Given the description of an element on the screen output the (x, y) to click on. 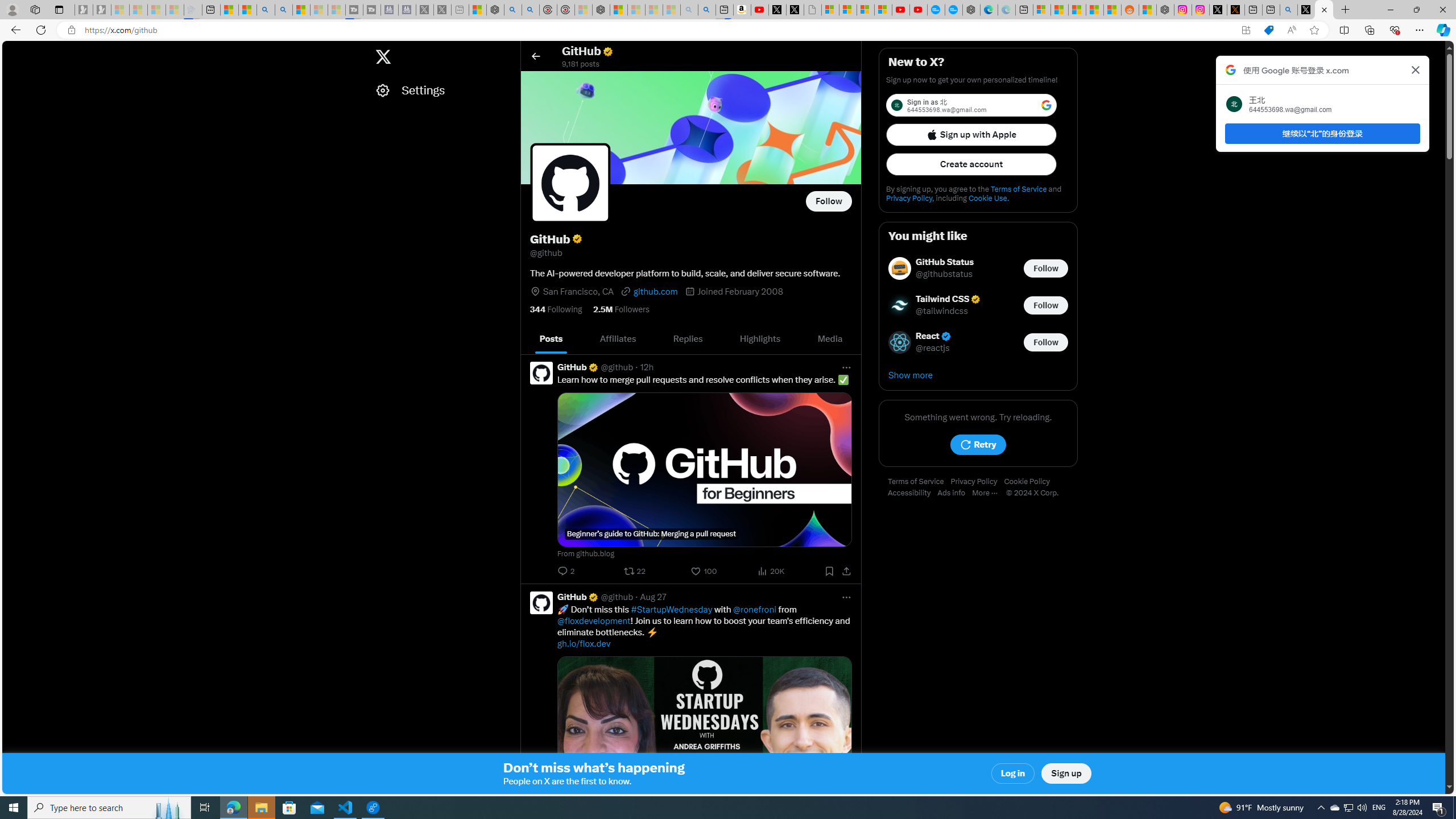
344 Following (555, 309)
@githubstatus (943, 274)
Privacy Policy (977, 481)
Skip to home timeline (12, 50)
Microsoft account | Microsoft Account Privacy Settings (1041, 9)
